Given the description of an element on the screen output the (x, y) to click on. 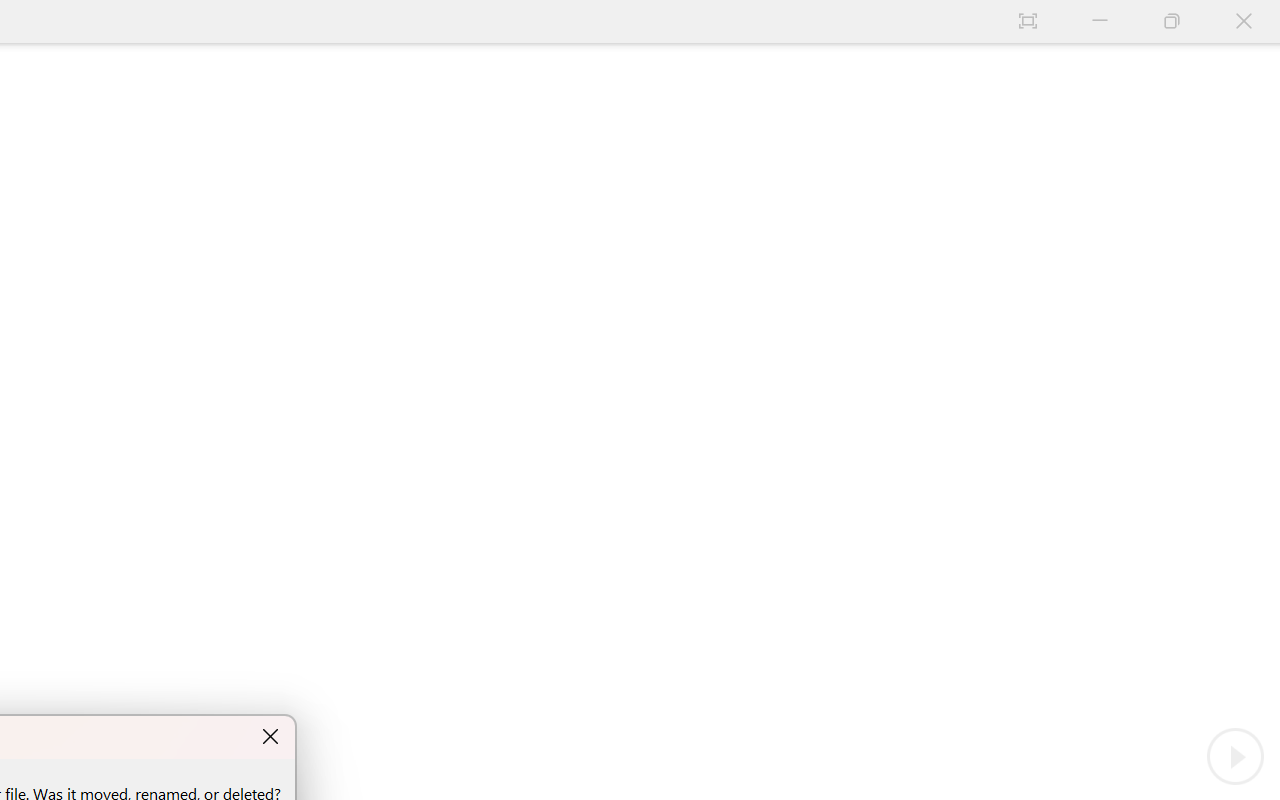
Minimize (1164, 18)
Page up (768, 266)
Collapse the Ribbon (1267, 170)
Translator (1260, 201)
Close (1256, 18)
Alt Text (1260, 334)
Line up (768, 188)
Record (995, 54)
